Given the description of an element on the screen output the (x, y) to click on. 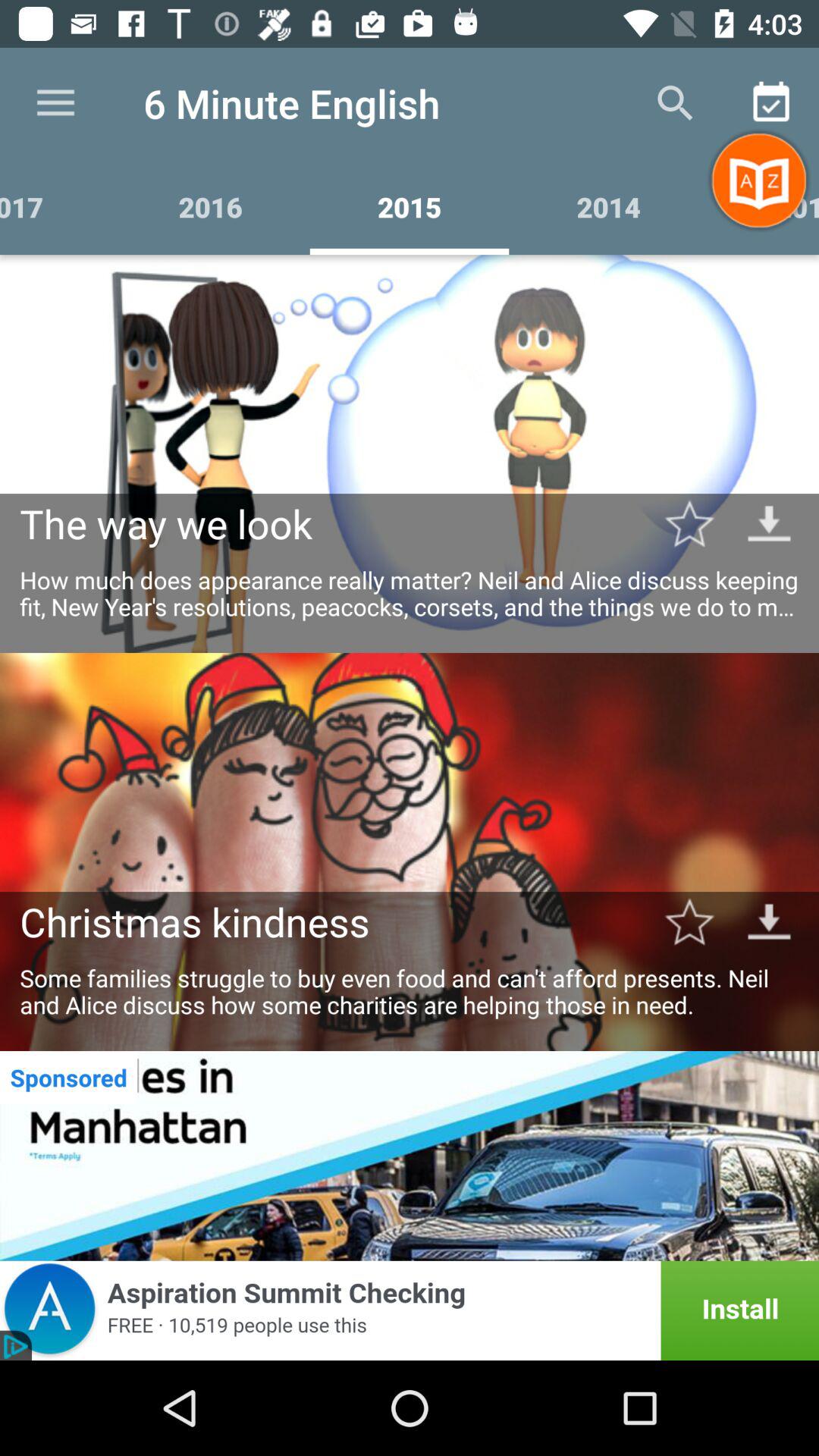
toggle to advertisement (409, 1155)
